Given the description of an element on the screen output the (x, y) to click on. 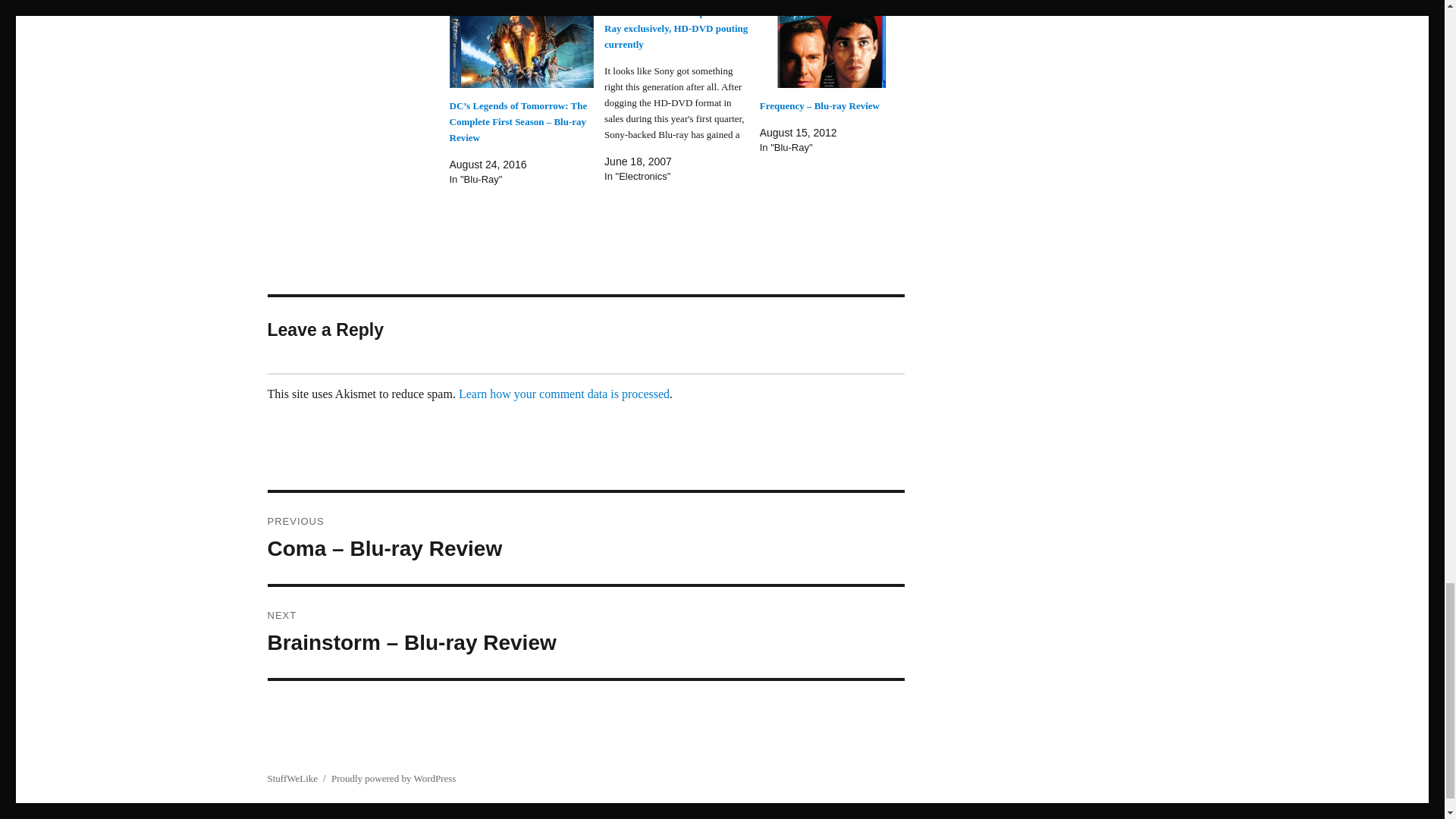
Learn how your comment data is processed (563, 393)
